Given the description of an element on the screen output the (x, y) to click on. 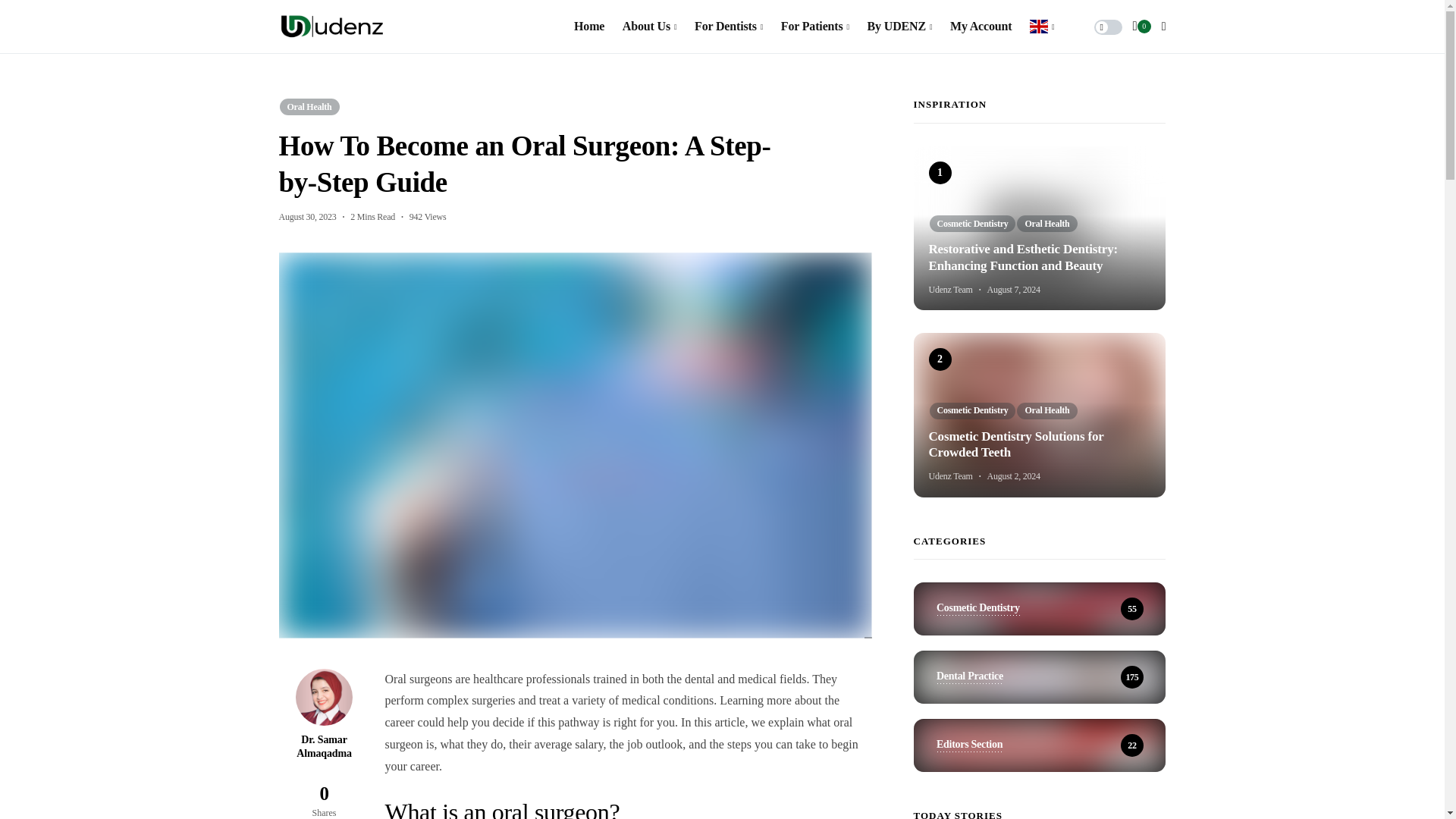
For Dentists (728, 26)
For Patients (814, 26)
Posts by Udenz Team (950, 475)
About Us (650, 26)
Posts by Udenz Team (950, 289)
By UDENZ (900, 26)
